Given the description of an element on the screen output the (x, y) to click on. 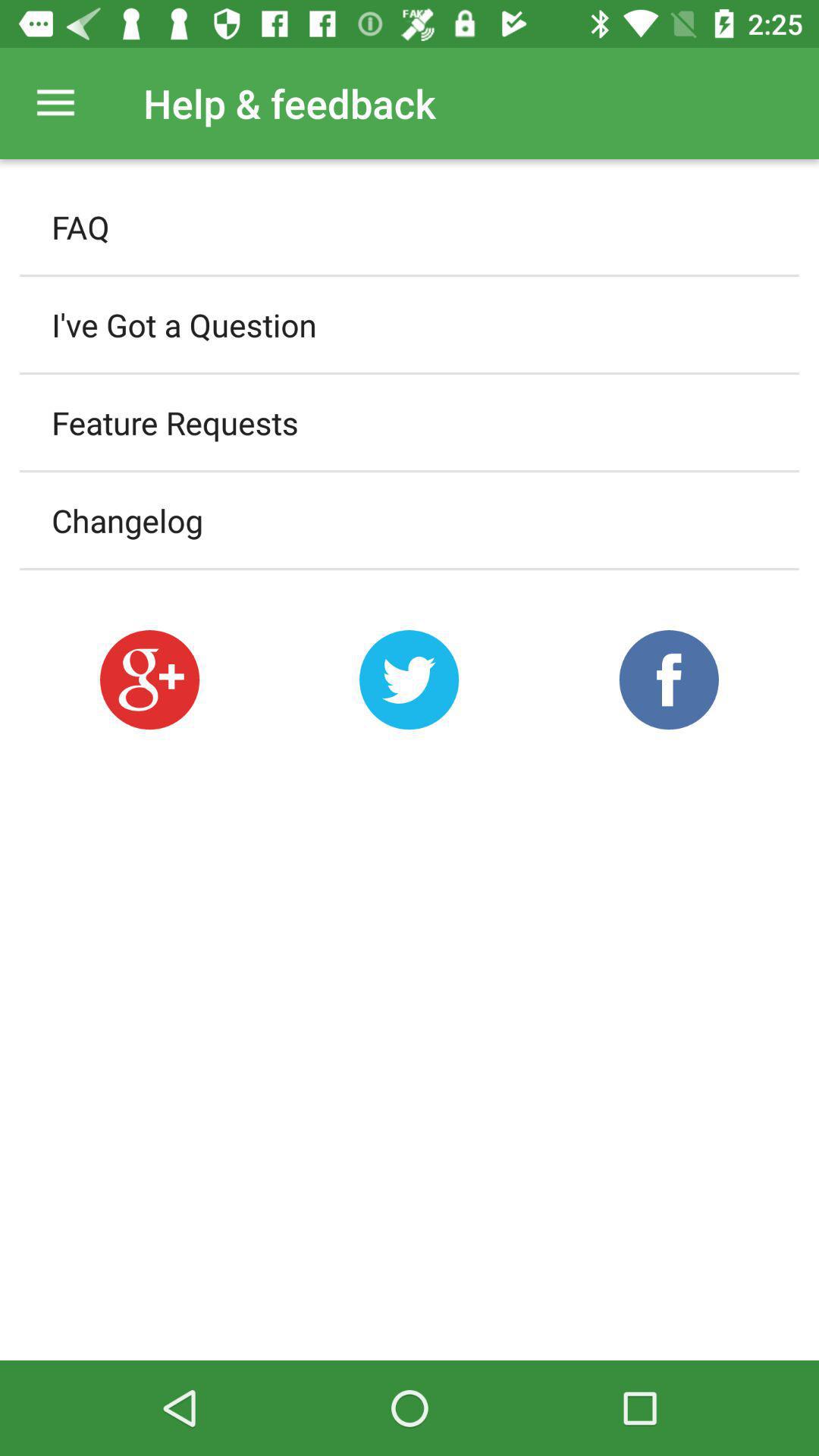
launch the item below faq icon (409, 324)
